Given the description of an element on the screen output the (x, y) to click on. 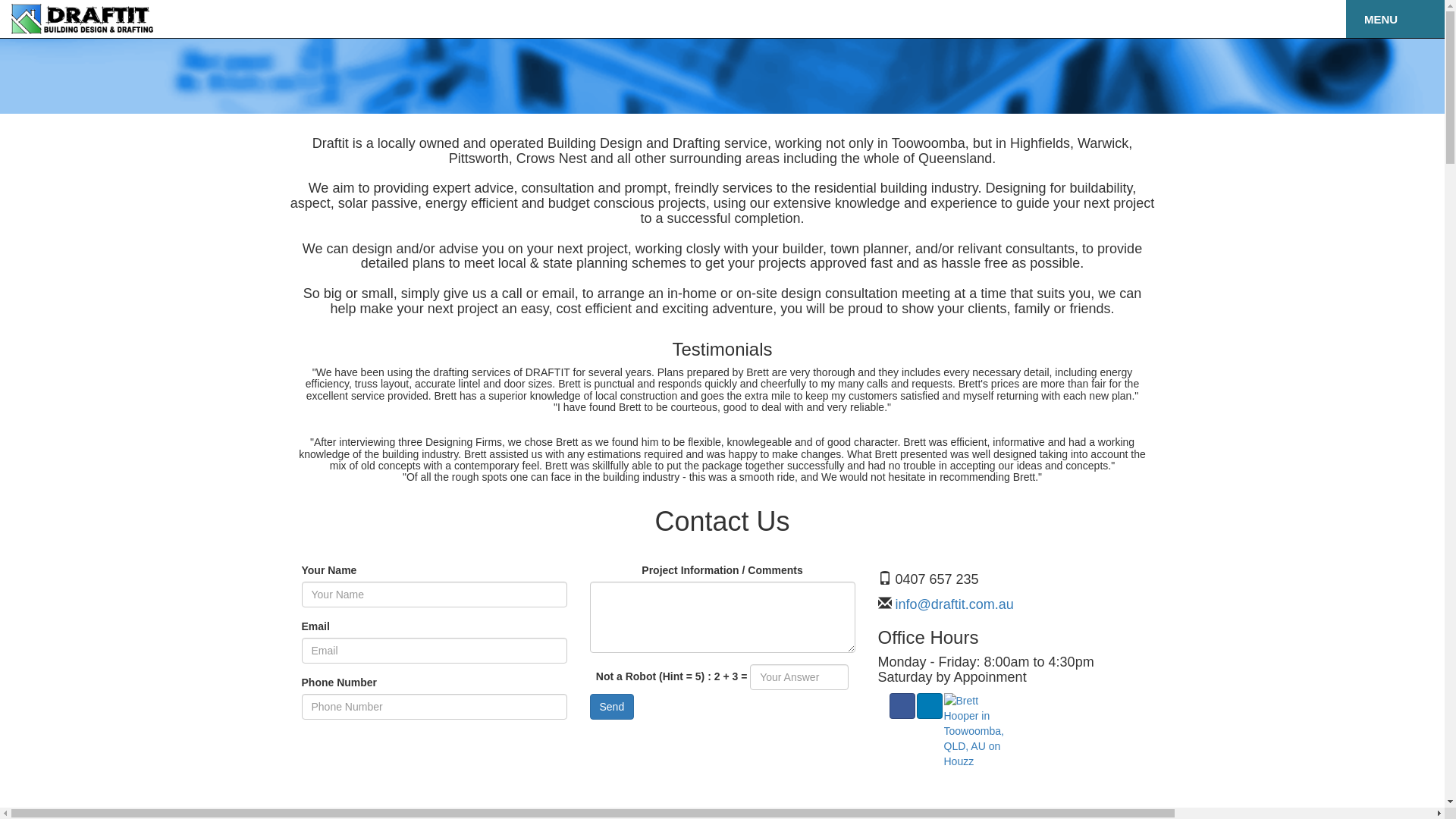
Send Element type: text (611, 706)
LinkedIn Element type: hover (928, 705)
MENU   Element type: text (1395, 18)
info@draftit.com.au Element type: text (952, 603)
Facebook Element type: hover (901, 705)
Houzz Element type: hover (973, 730)
Contact us Today! Element type: text (722, 17)
